Given the description of an element on the screen output the (x, y) to click on. 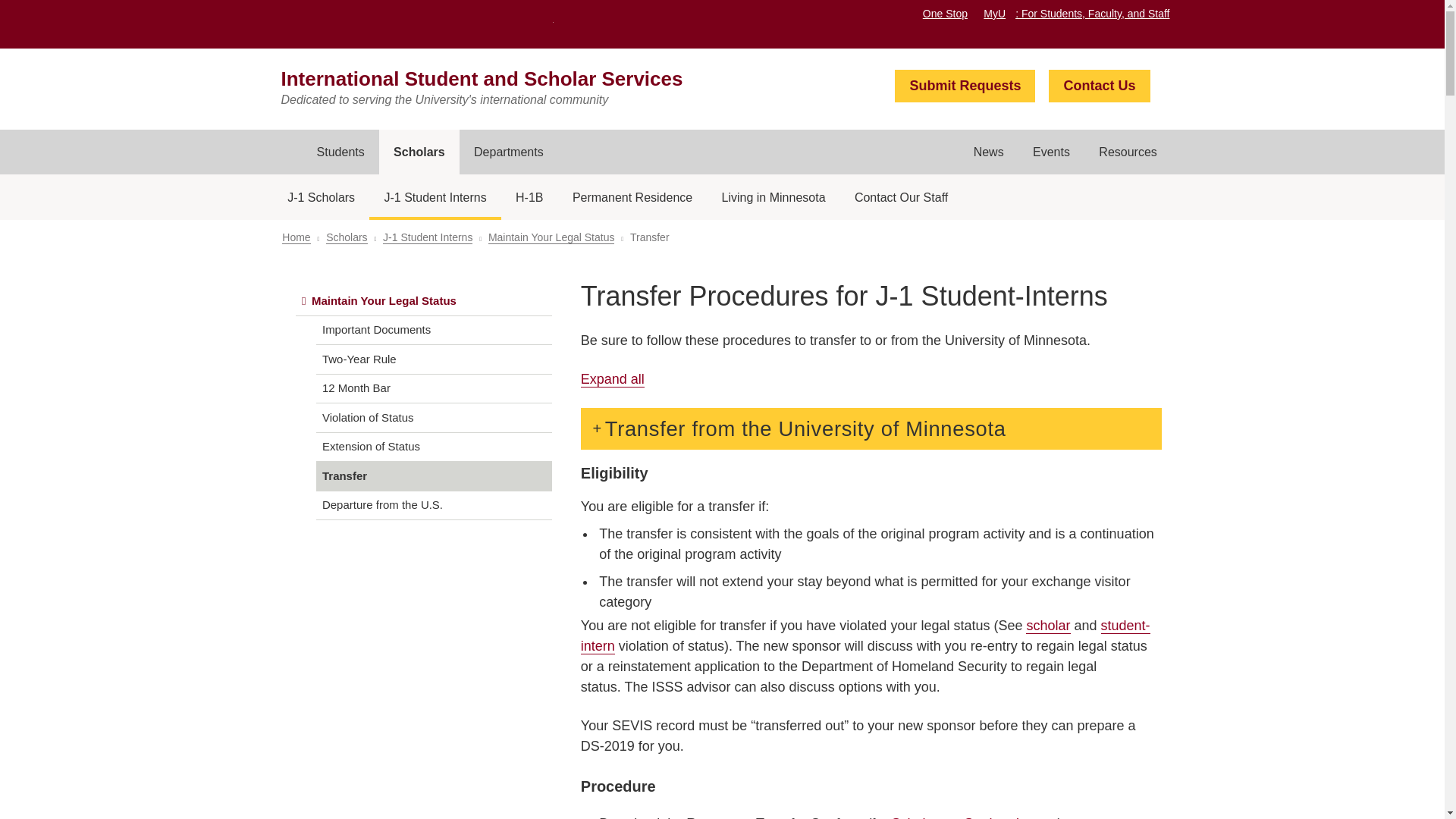
One Stop (945, 13)
Contact Us (1099, 85)
News (987, 151)
International Student and Scholar Services (481, 78)
Departments (508, 151)
MyU: For Students, Faculty, and Staff (1076, 13)
J-1 Scholars (321, 197)
Resources (1128, 151)
Scholars (419, 151)
